Given the description of an element on the screen output the (x, y) to click on. 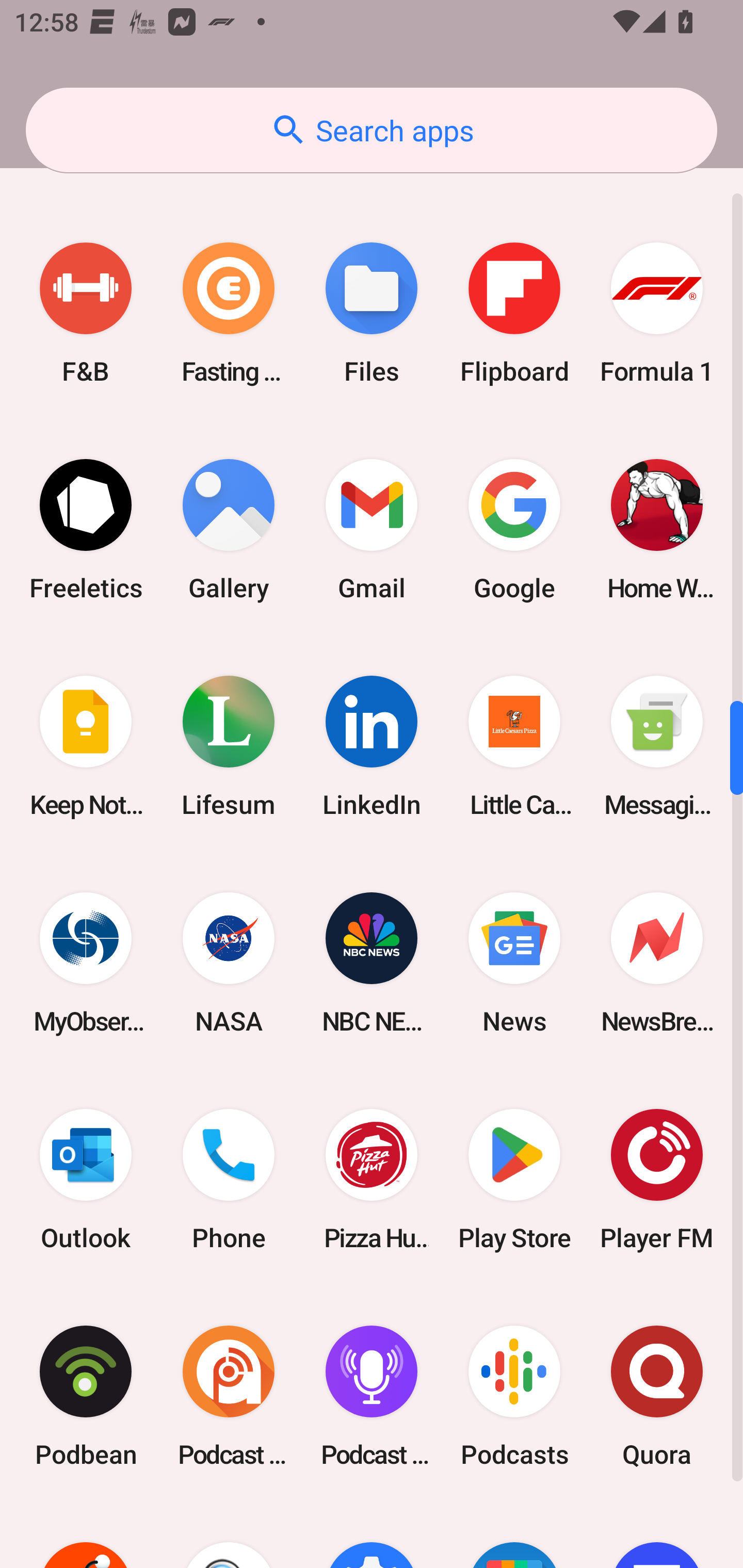
  Search apps (371, 130)
F&B (85, 313)
Fasting Coach (228, 313)
Files (371, 313)
Flipboard (514, 313)
Formula 1 (656, 313)
Freeletics (85, 529)
Gallery (228, 529)
Gmail (371, 529)
Google (514, 529)
Home Workout (656, 529)
Keep Notes (85, 746)
Lifesum (228, 746)
LinkedIn (371, 746)
Little Caesars Pizza (514, 746)
Messaging (656, 746)
MyObservatory (85, 962)
NASA (228, 962)
NBC NEWS (371, 962)
News (514, 962)
NewsBreak (656, 962)
Outlook (85, 1178)
Phone (228, 1178)
Pizza Hut HK & Macau (371, 1178)
Play Store (514, 1178)
Player FM (656, 1178)
Podbean (85, 1396)
Podcast Addict (228, 1396)
Podcast Player (371, 1396)
Podcasts (514, 1396)
Quora (656, 1396)
